Given the description of an element on the screen output the (x, y) to click on. 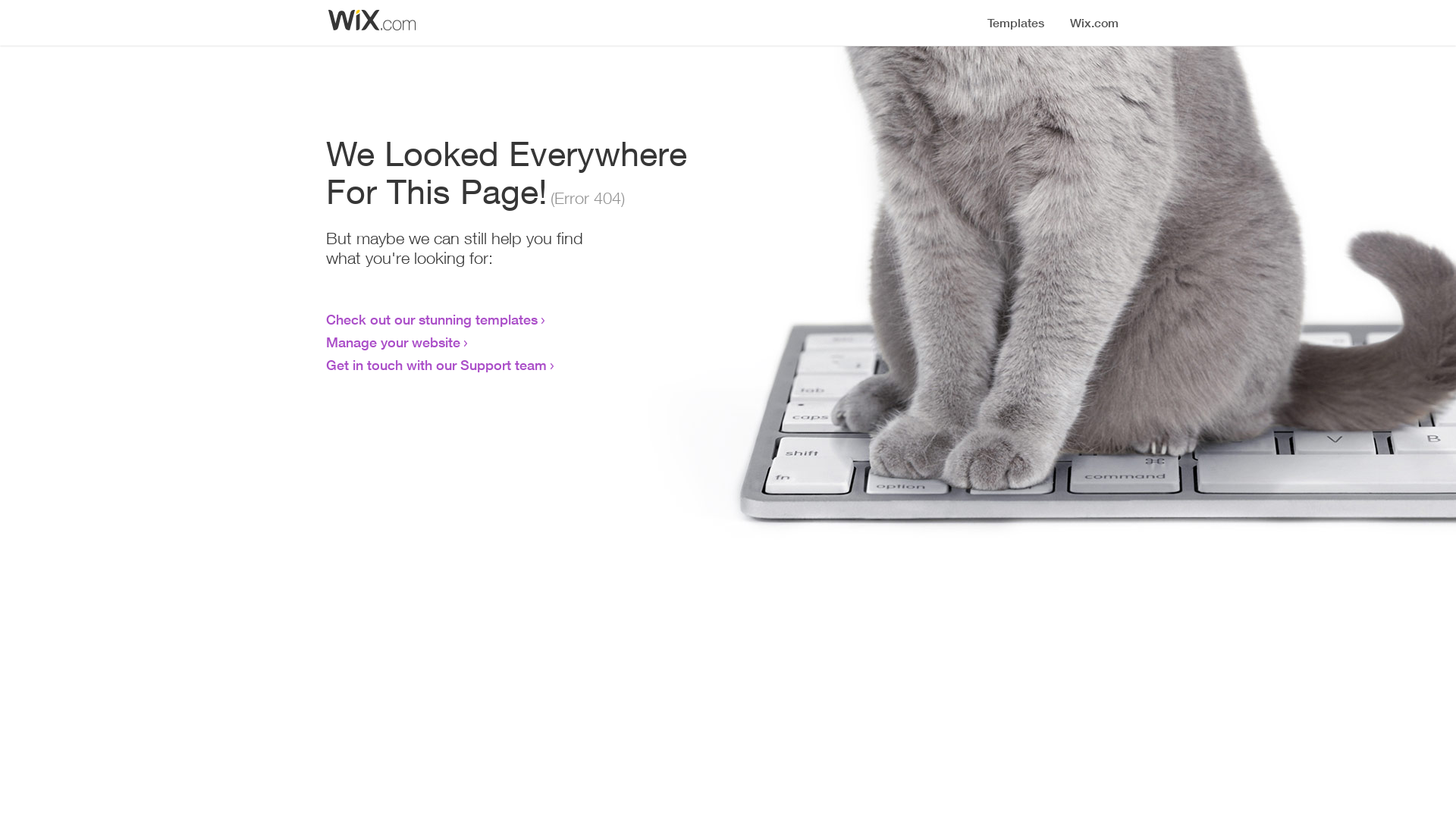
Check out our stunning templates Element type: text (431, 318)
Get in touch with our Support team Element type: text (436, 364)
Manage your website Element type: text (393, 341)
